Given the description of an element on the screen output the (x, y) to click on. 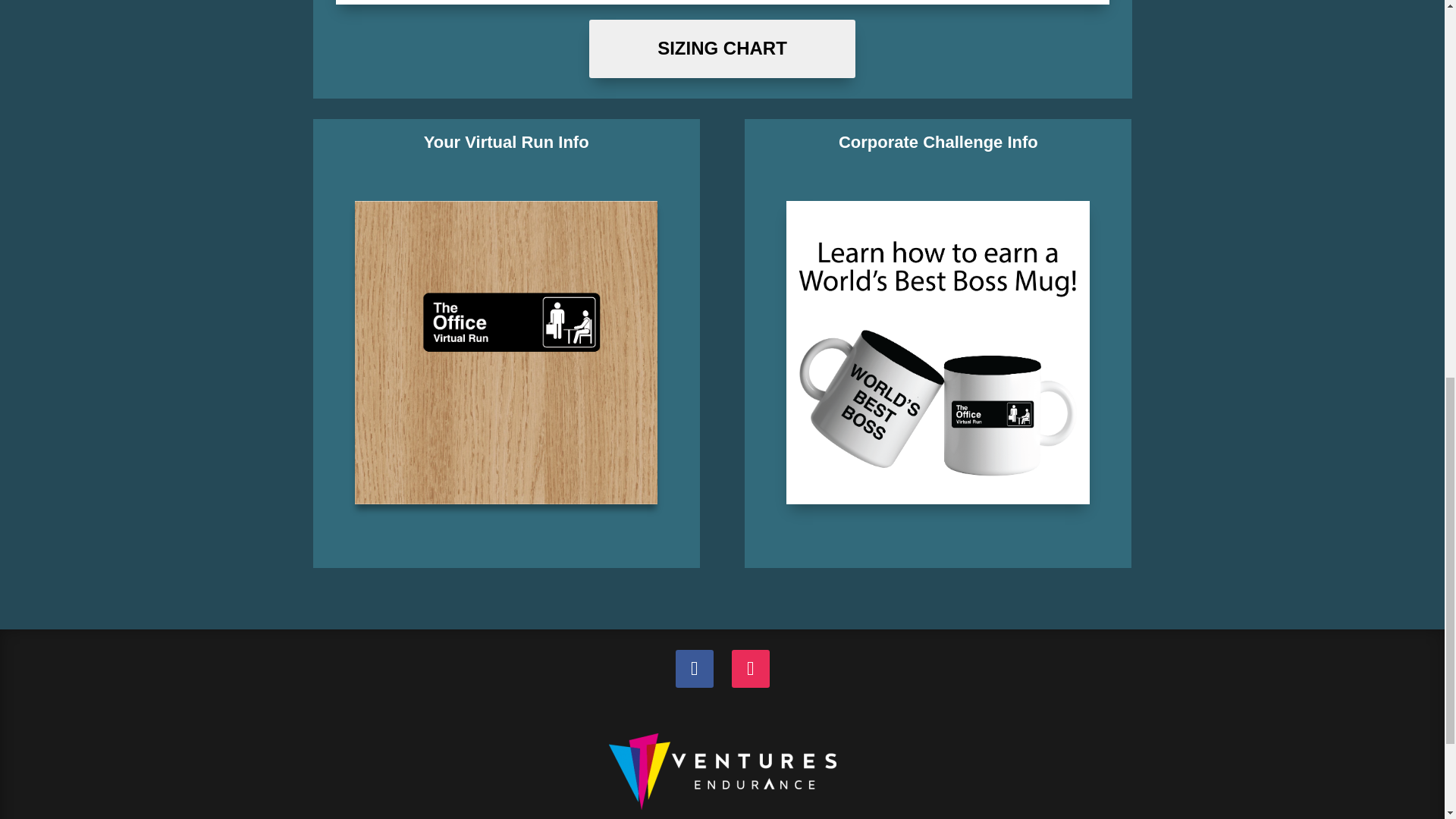
Follow on Facebook (694, 668)
SIZING CHART (722, 48)
Follow on Instagram (749, 668)
